Given the description of an element on the screen output the (x, y) to click on. 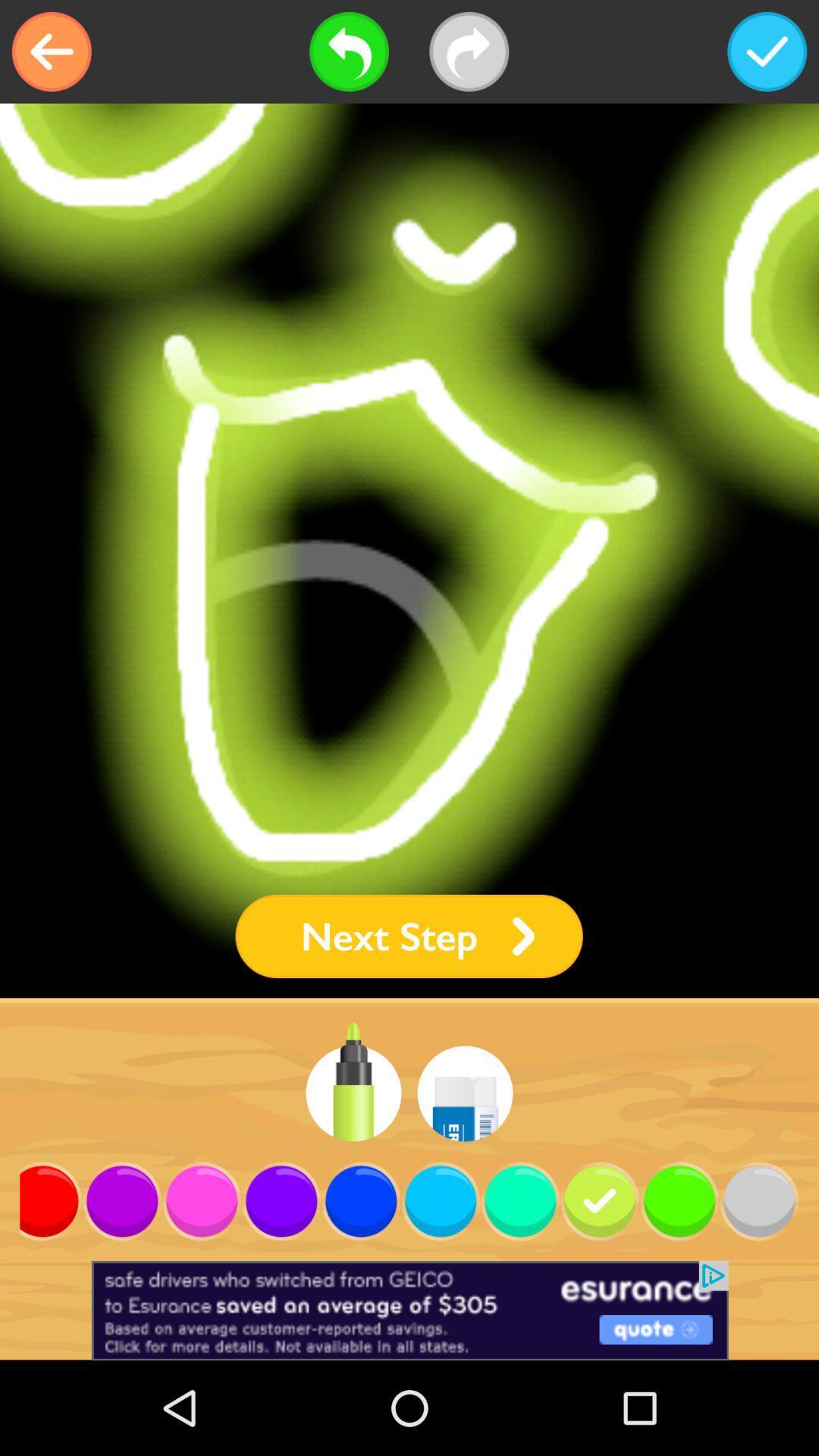
turn on icon at the top left corner (51, 51)
